Given the description of an element on the screen output the (x, y) to click on. 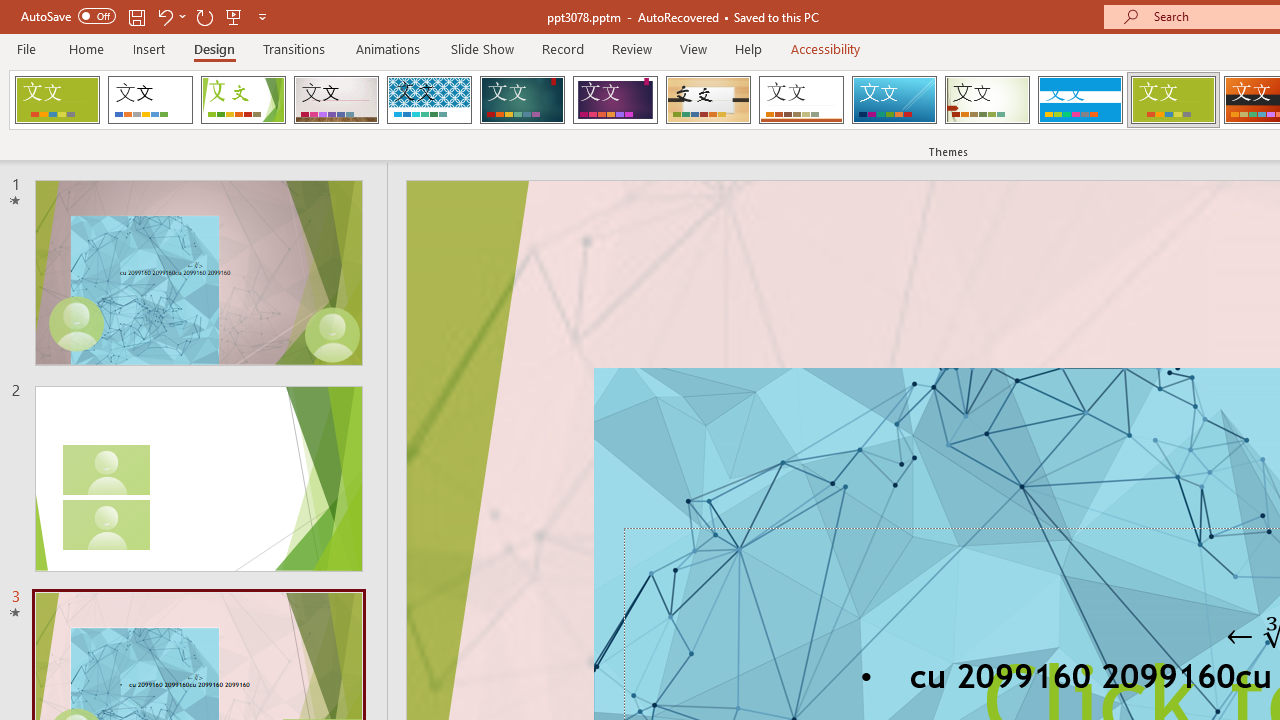
Ion Boardroom (615, 100)
Wisp (987, 100)
Gallery (336, 100)
Facet (243, 100)
Banded (1080, 100)
